Given the description of an element on the screen output the (x, y) to click on. 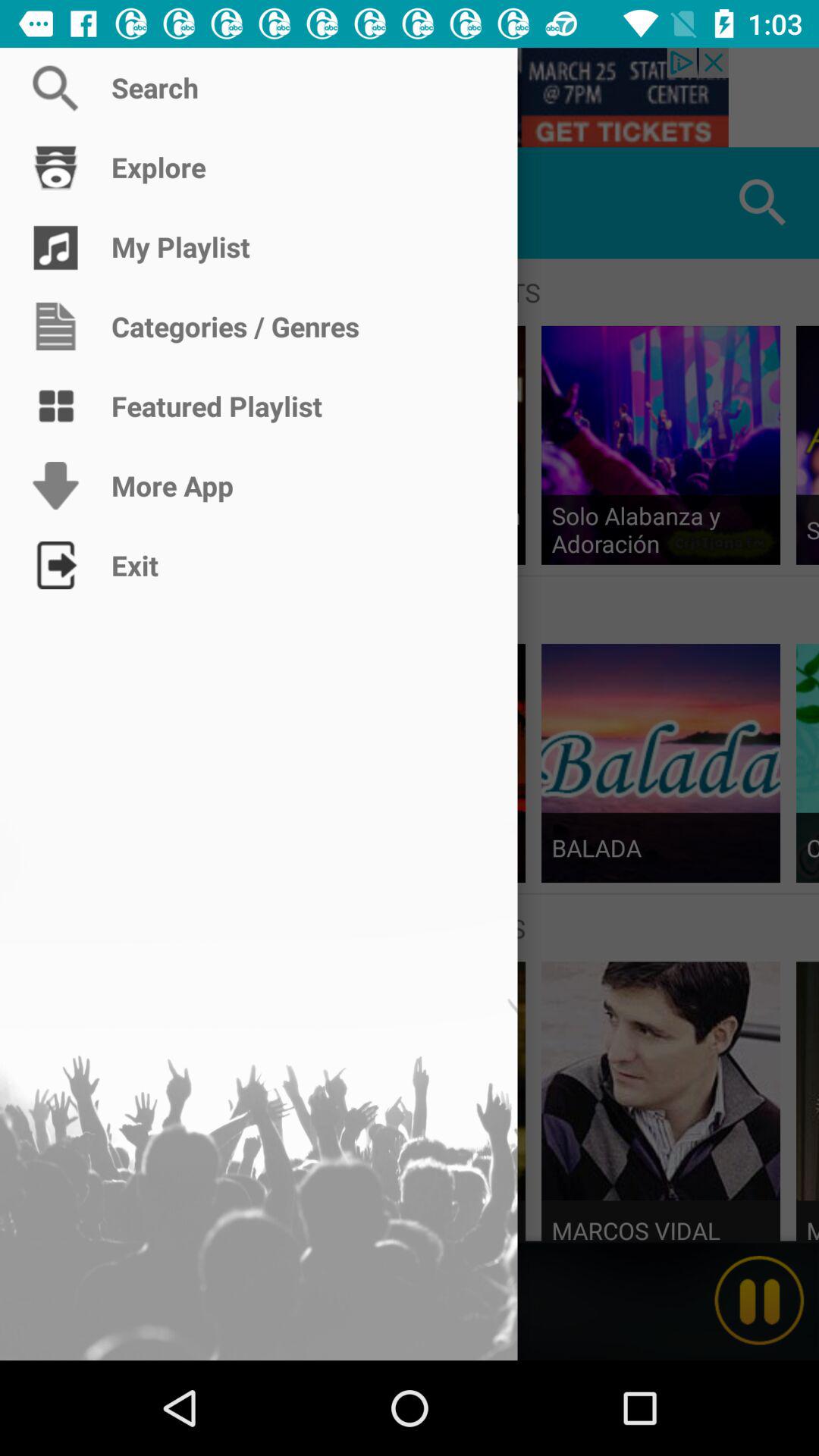
enter search terms (409, 97)
